Given the description of an element on the screen output the (x, y) to click on. 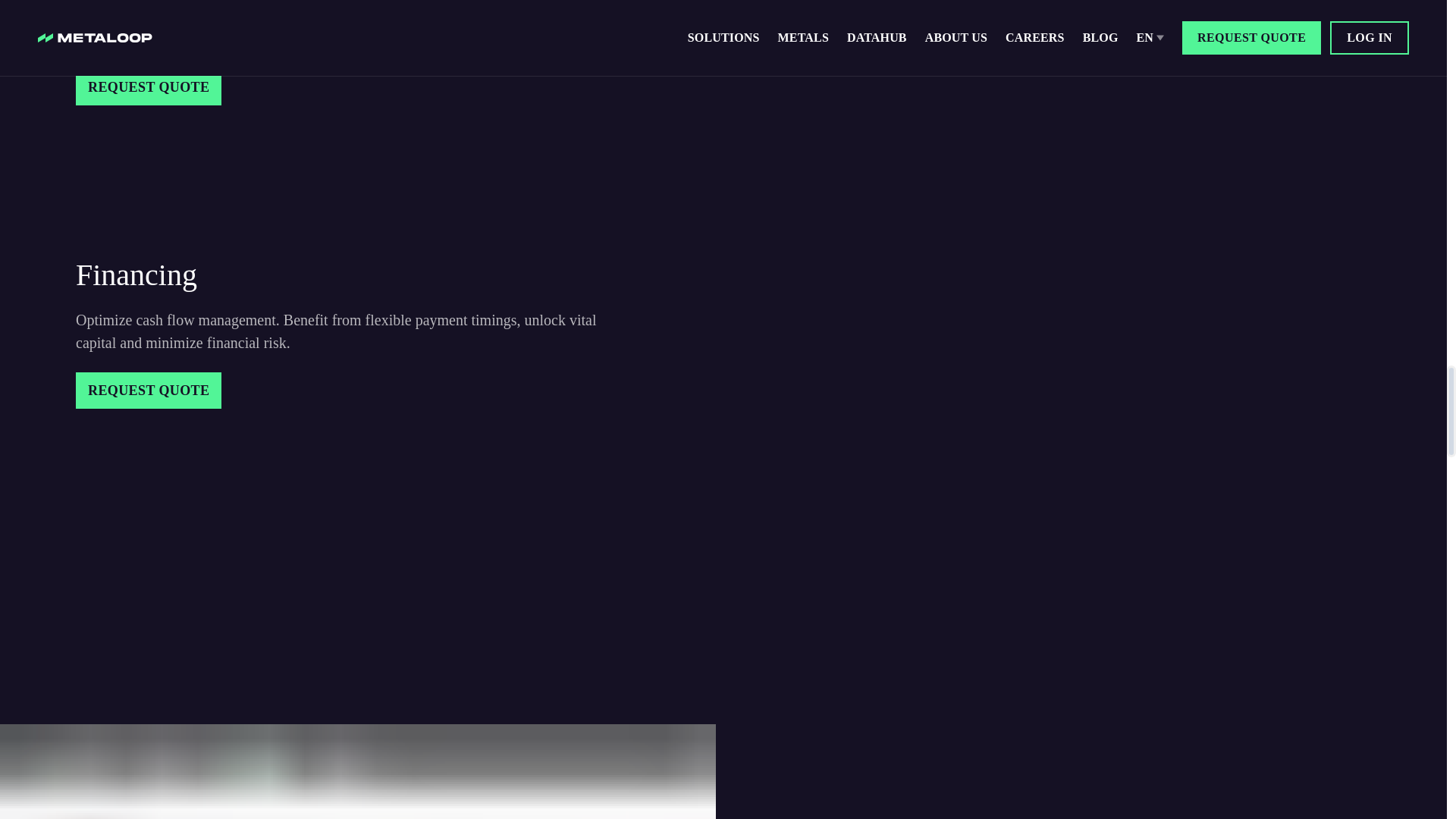
REQUEST QUOTE (148, 390)
